Given the description of an element on the screen output the (x, y) to click on. 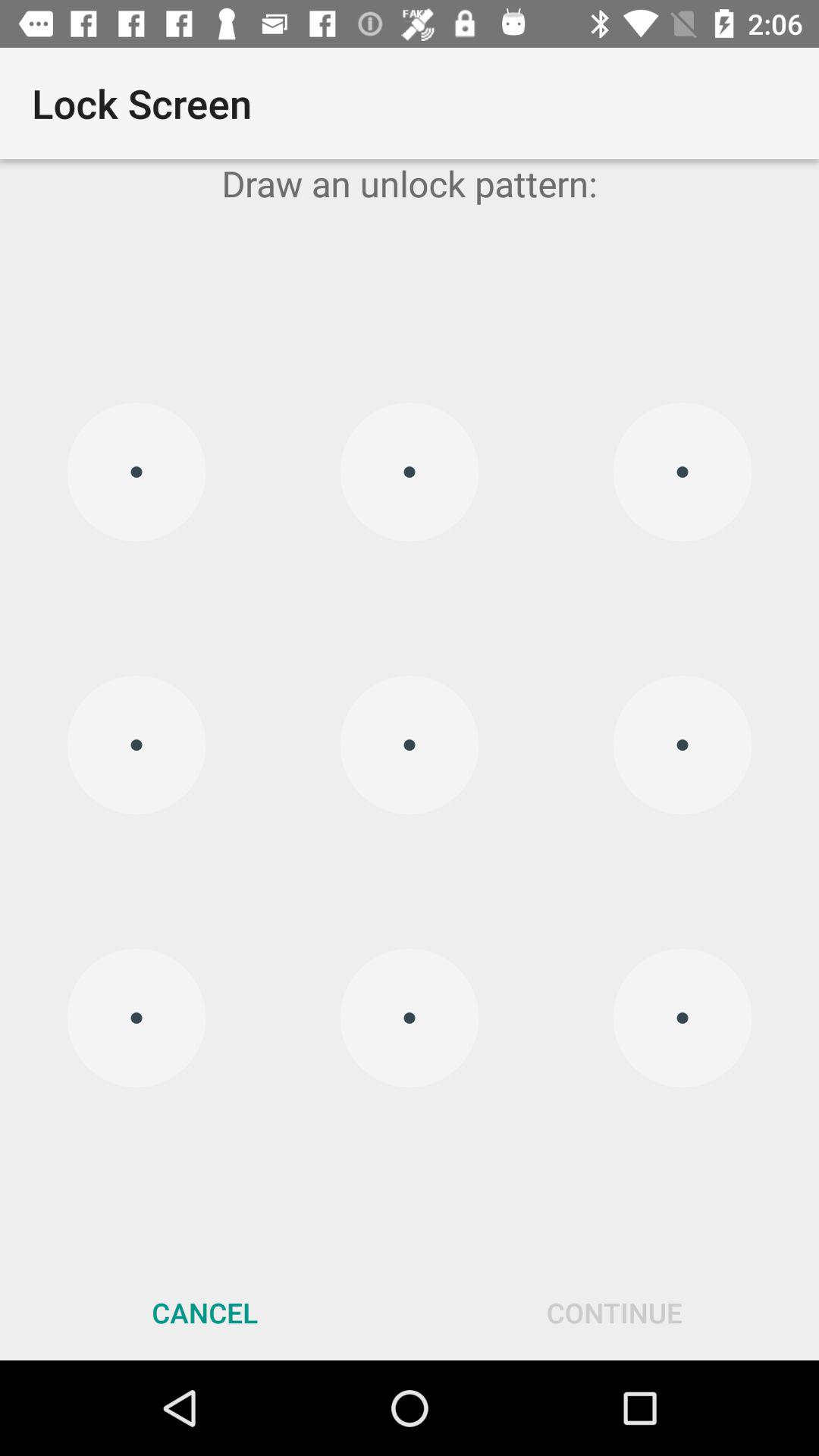
open the draw an unlock app (409, 183)
